Given the description of an element on the screen output the (x, y) to click on. 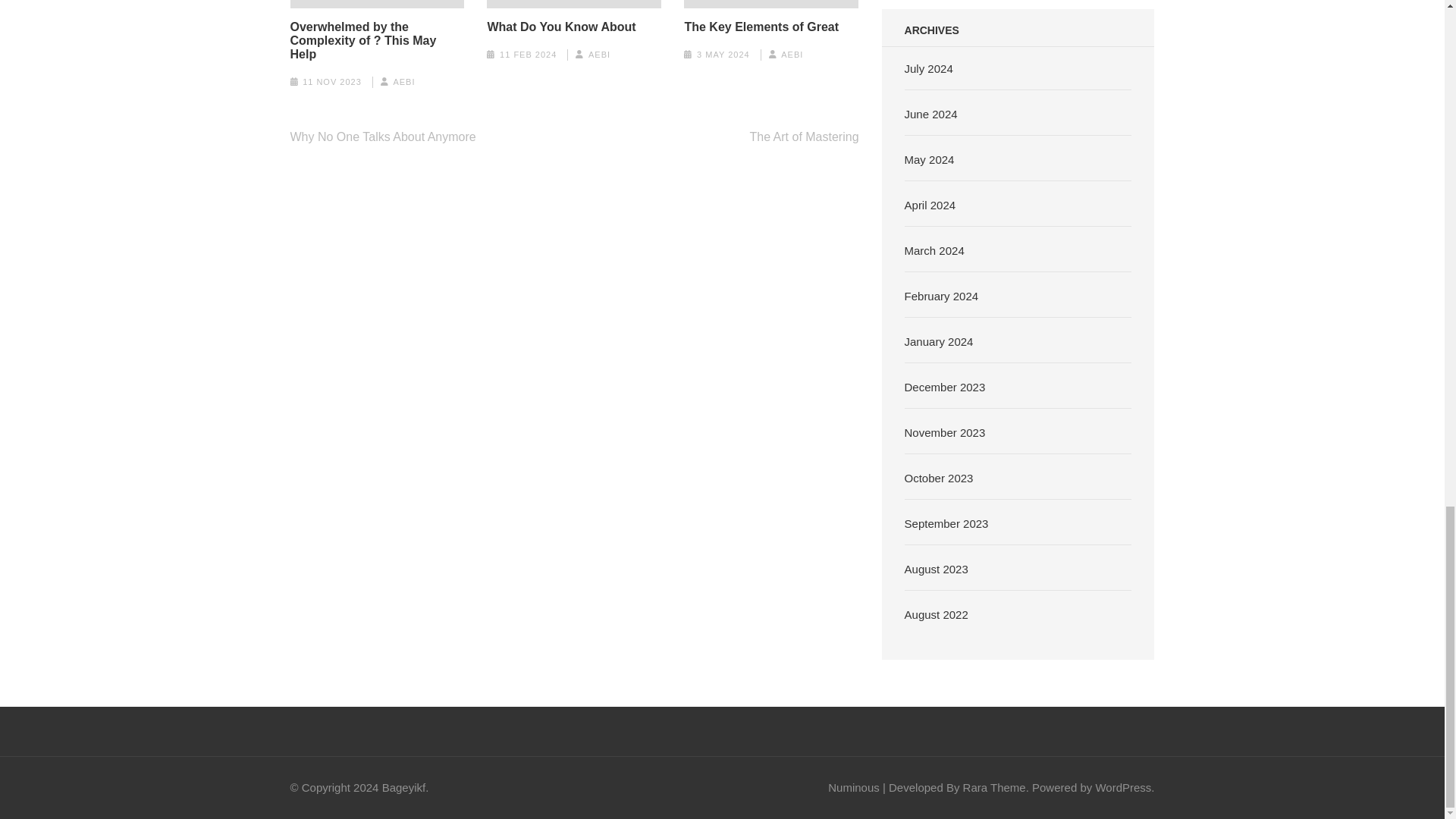
AEBI (403, 81)
Why No One Talks About Anymore (382, 136)
The Key Elements of Great (761, 27)
AEBI (791, 53)
The Art of Mastering (804, 136)
11 FEB 2024 (527, 53)
3 MAY 2024 (723, 53)
Overwhelmed by the Complexity of ? This May Help (376, 40)
11 NOV 2023 (331, 81)
What Do You Know About (560, 27)
AEBI (599, 53)
